Given the description of an element on the screen output the (x, y) to click on. 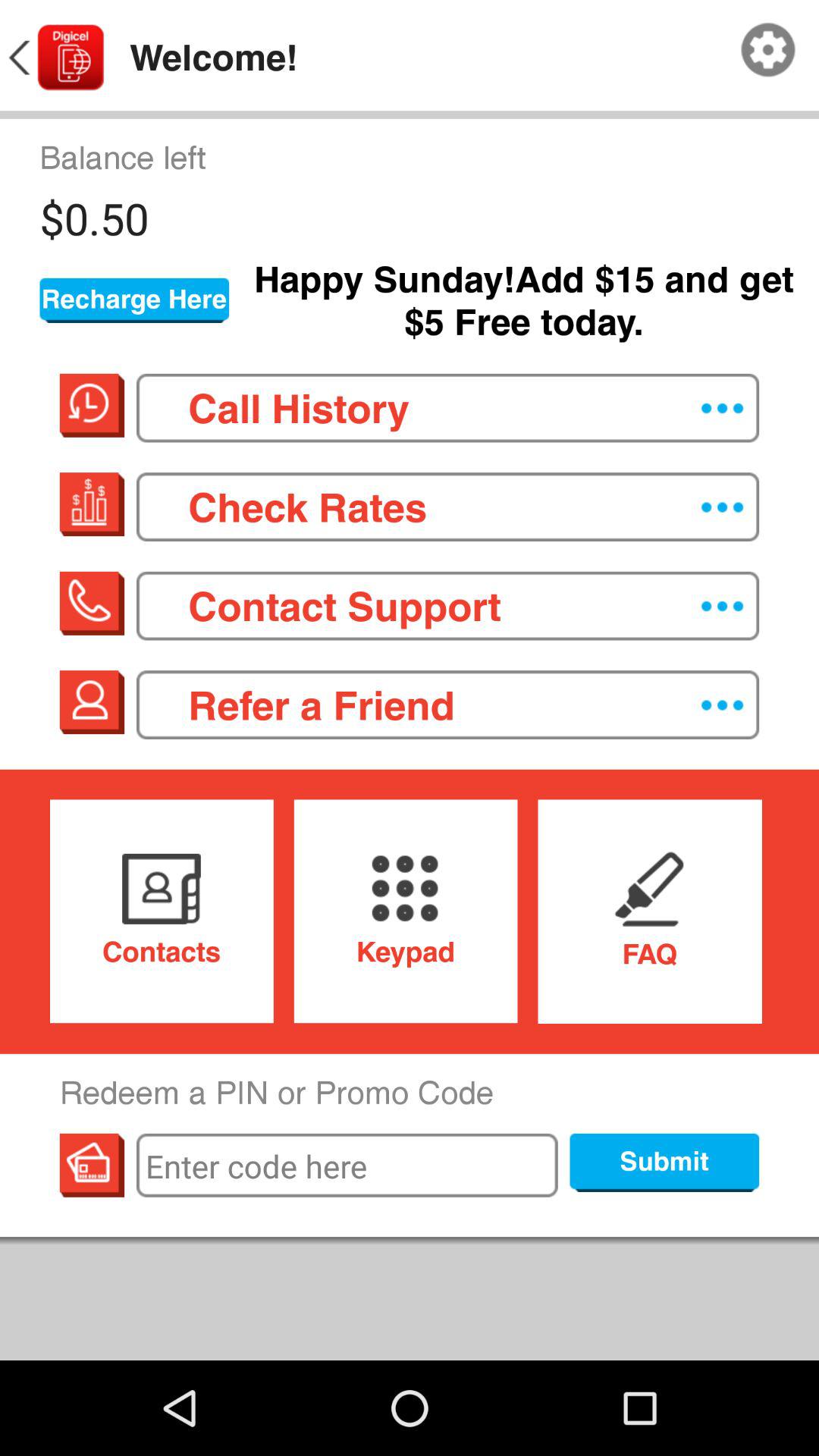
swipe until the recharge here button (134, 300)
